Given the description of an element on the screen output the (x, y) to click on. 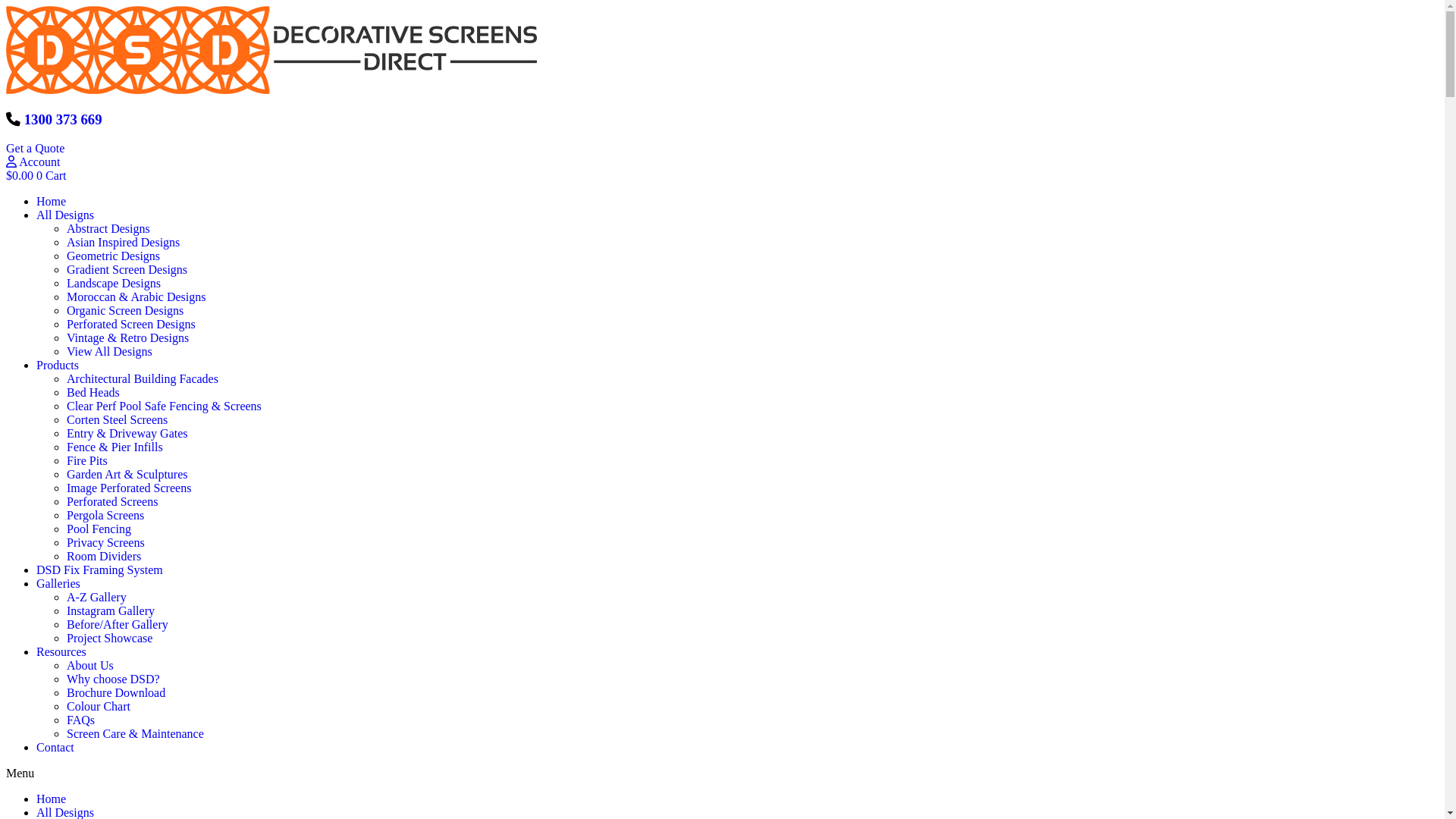
Landscape Designs Element type: text (113, 282)
Moroccan & Arabic Designs Element type: text (136, 296)
Get a Quote Element type: text (35, 147)
Pool Fencing Element type: text (98, 528)
Room Dividers Element type: text (103, 555)
1300 373 669 Element type: text (63, 119)
Brochure Download Element type: text (115, 692)
View All Designs Element type: text (109, 351)
Abstract Designs Element type: text (108, 228)
About Us Element type: text (89, 664)
Asian Inspired Designs Element type: text (122, 241)
Contact Element type: text (55, 746)
Home Element type: text (50, 798)
A-Z Gallery Element type: text (96, 596)
Privacy Screens Element type: text (105, 542)
Garden Art & Sculptures Element type: text (127, 473)
Why choose DSD? Element type: text (113, 678)
Geometric Designs Element type: text (113, 255)
Corten Steel Screens Element type: text (116, 419)
Before/After Gallery Element type: text (117, 624)
Gradient Screen Designs Element type: text (126, 269)
Galleries Element type: text (58, 583)
FAQs Element type: text (80, 719)
Clear Perf Pool Safe Fencing & Screens Element type: text (163, 405)
DSD Fix Framing System Element type: text (99, 569)
Screen Care & Maintenance Element type: text (134, 733)
Account Element type: text (32, 161)
Perforated Screen Designs Element type: text (130, 323)
Vintage & Retro Designs Element type: text (127, 337)
Architectural Building Facades Element type: text (142, 378)
Perforated Screens Element type: text (111, 501)
Resources Element type: text (61, 651)
$0.00 0 Cart Element type: text (36, 175)
Bed Heads Element type: text (92, 391)
Skip to content Element type: text (5, 5)
Project Showcase Element type: text (109, 637)
Products Element type: text (57, 364)
Entry & Driveway Gates Element type: text (127, 432)
Fire Pits Element type: text (86, 460)
Home Element type: text (50, 200)
Image Perforated Screens Element type: text (128, 487)
Pergola Screens Element type: text (105, 514)
Decorative Screens Direct Element type: hover (271, 50)
All Designs Element type: text (65, 214)
Colour Chart Element type: text (98, 705)
Organic Screen Designs Element type: text (124, 310)
Fence & Pier Infills Element type: text (114, 446)
Instagram Gallery Element type: text (110, 610)
